Given the description of an element on the screen output the (x, y) to click on. 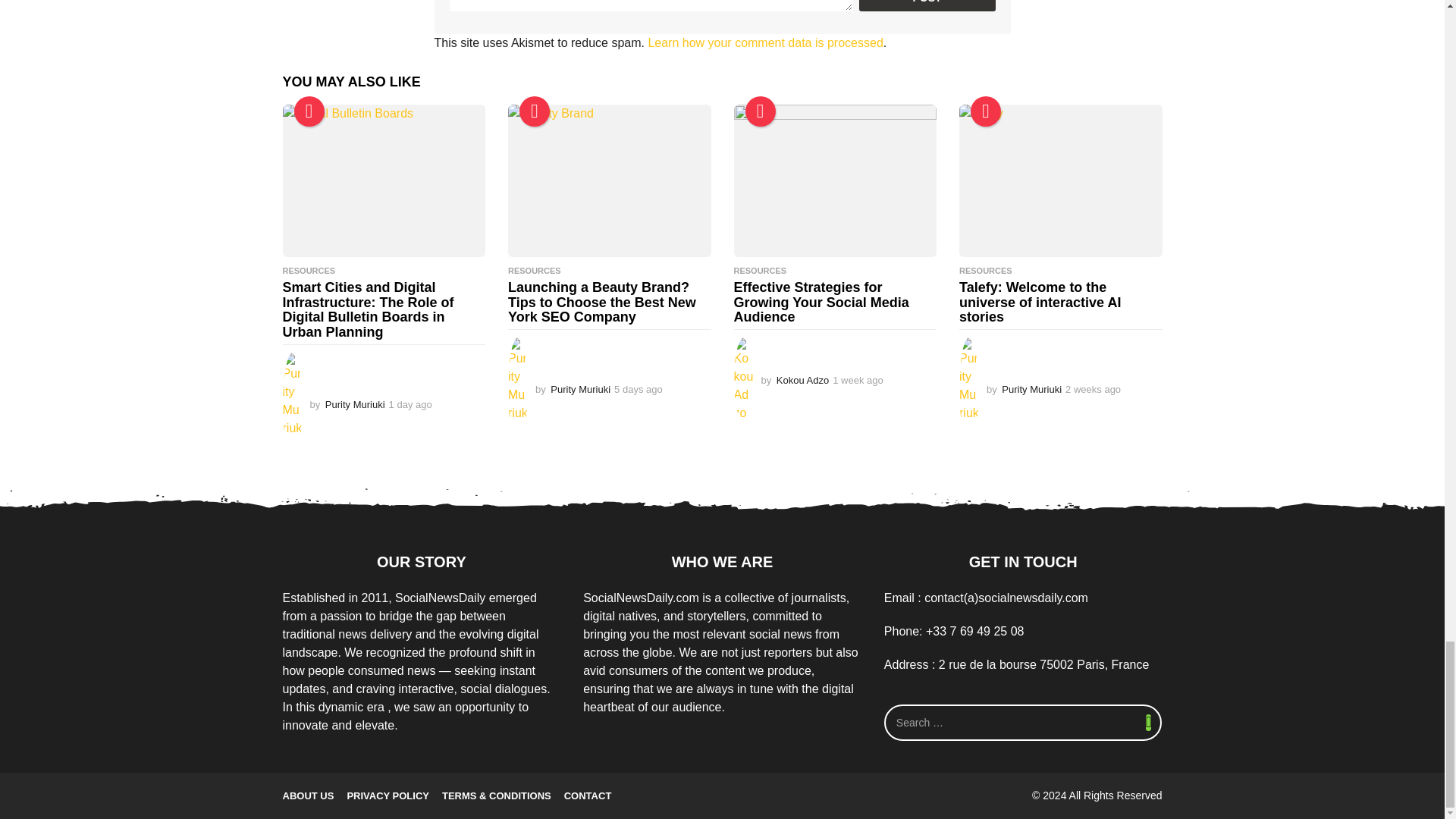
Talefy: Welcome to the universe of interactive AI stories (1060, 180)
Trending (309, 111)
Hot (534, 111)
Hot (759, 111)
Post (926, 5)
Hot (986, 111)
Effective Strategies for Growing Your Social Media Audience (835, 180)
